Given the description of an element on the screen output the (x, y) to click on. 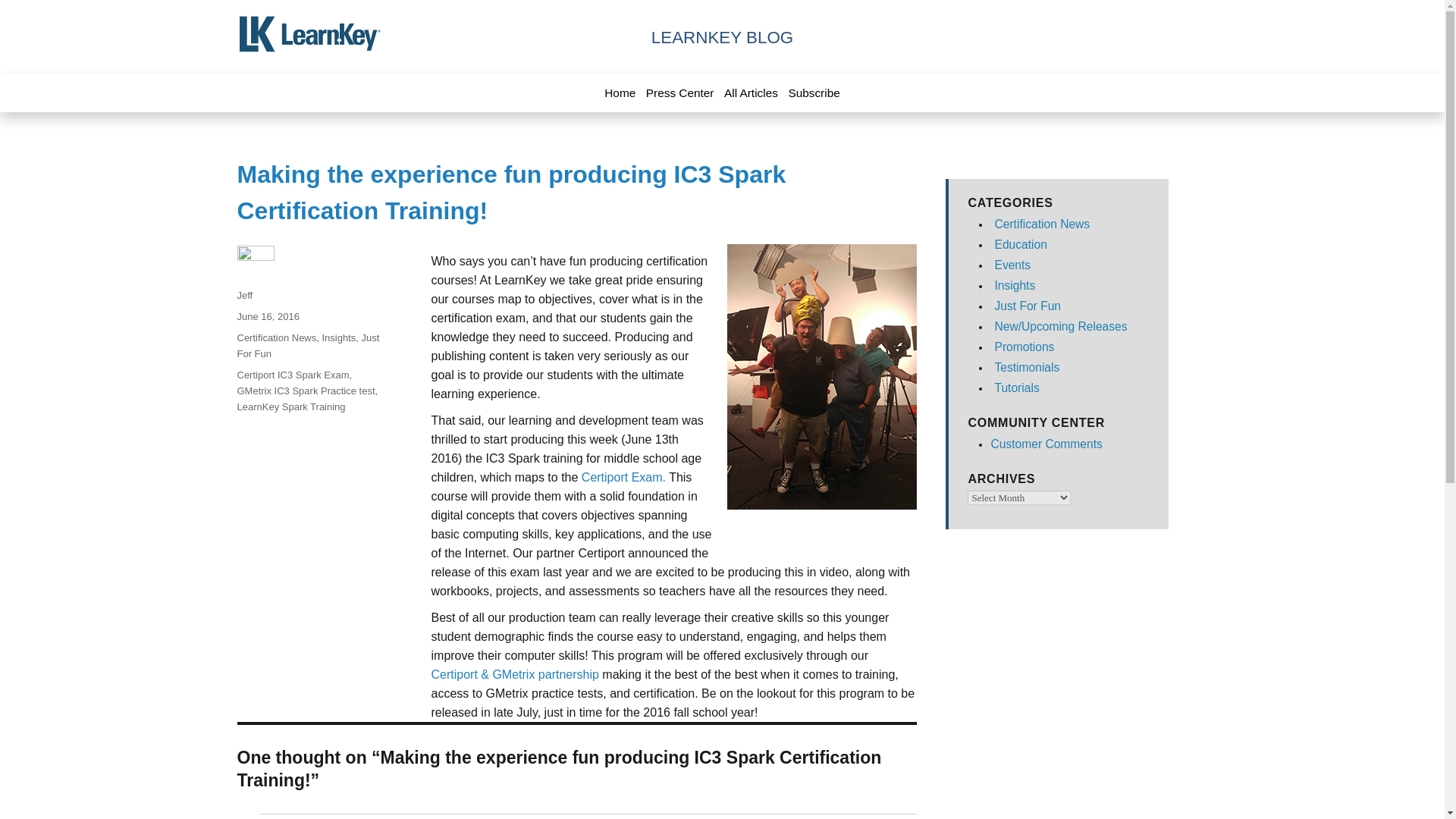
Certiport IC3 Spark Exam (292, 374)
Jeff (243, 295)
Certification News (1041, 223)
Just For Fun (306, 345)
Education (1020, 244)
LEARNKEY BLOG (721, 36)
Customer Comments (1046, 443)
Tutorials (1016, 387)
Events (1012, 264)
LearnKey Spark Training (290, 406)
